Given the description of an element on the screen output the (x, y) to click on. 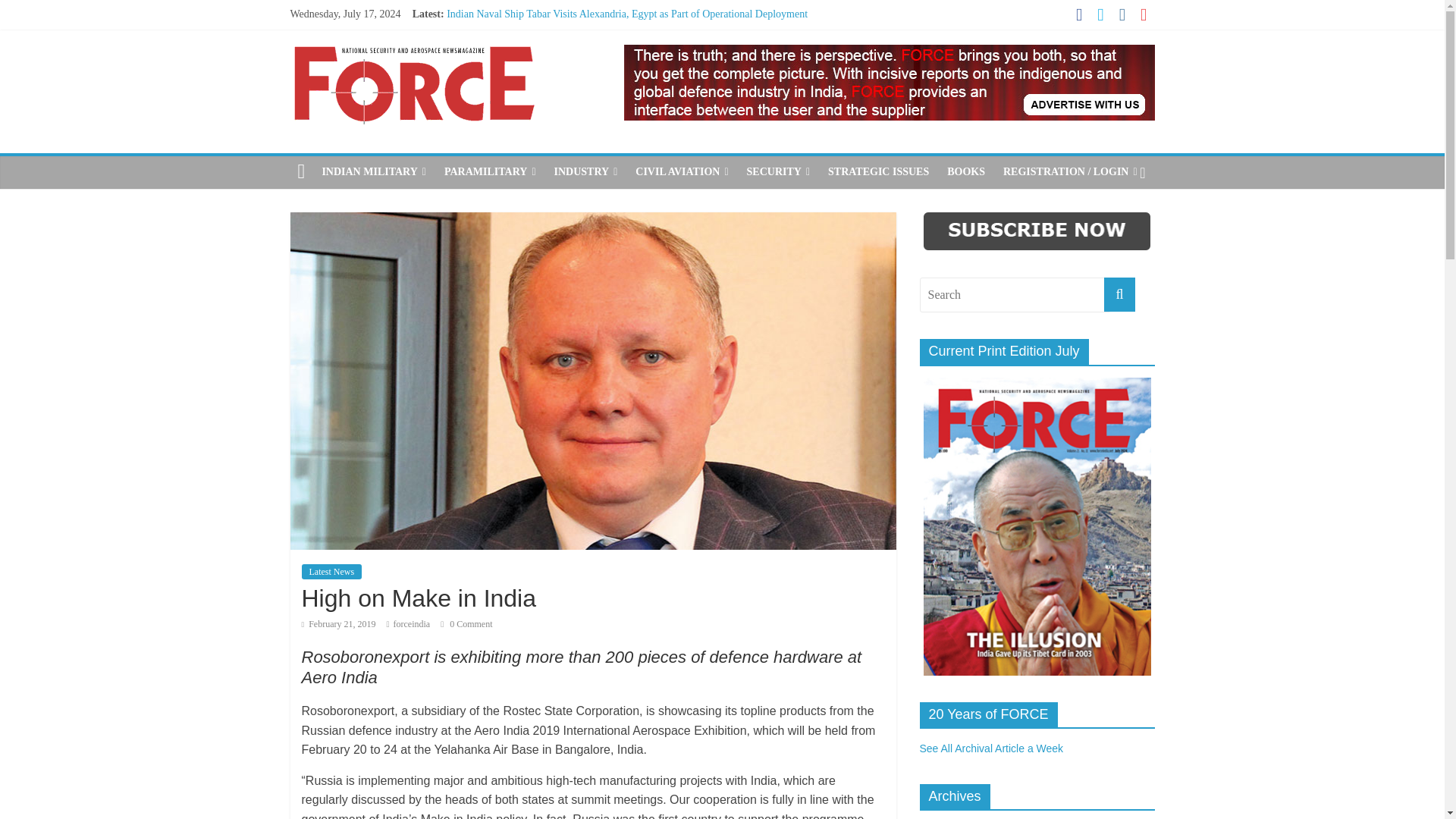
STRATEGIC ISSUES (877, 172)
SECURITY (778, 172)
forceindia (411, 624)
PARAMILITARY (489, 172)
BOOKS (965, 172)
View a random post (1142, 172)
CAS Inaugurates Weapon Systems School At Begumpet, Hyderabad (592, 81)
6:09 am (338, 624)
INDIAN MILITARY (374, 172)
CAS Inaugurates Weapon Systems School At Begumpet, Hyderabad (592, 81)
INDUSTRY (585, 172)
